Given the description of an element on the screen output the (x, y) to click on. 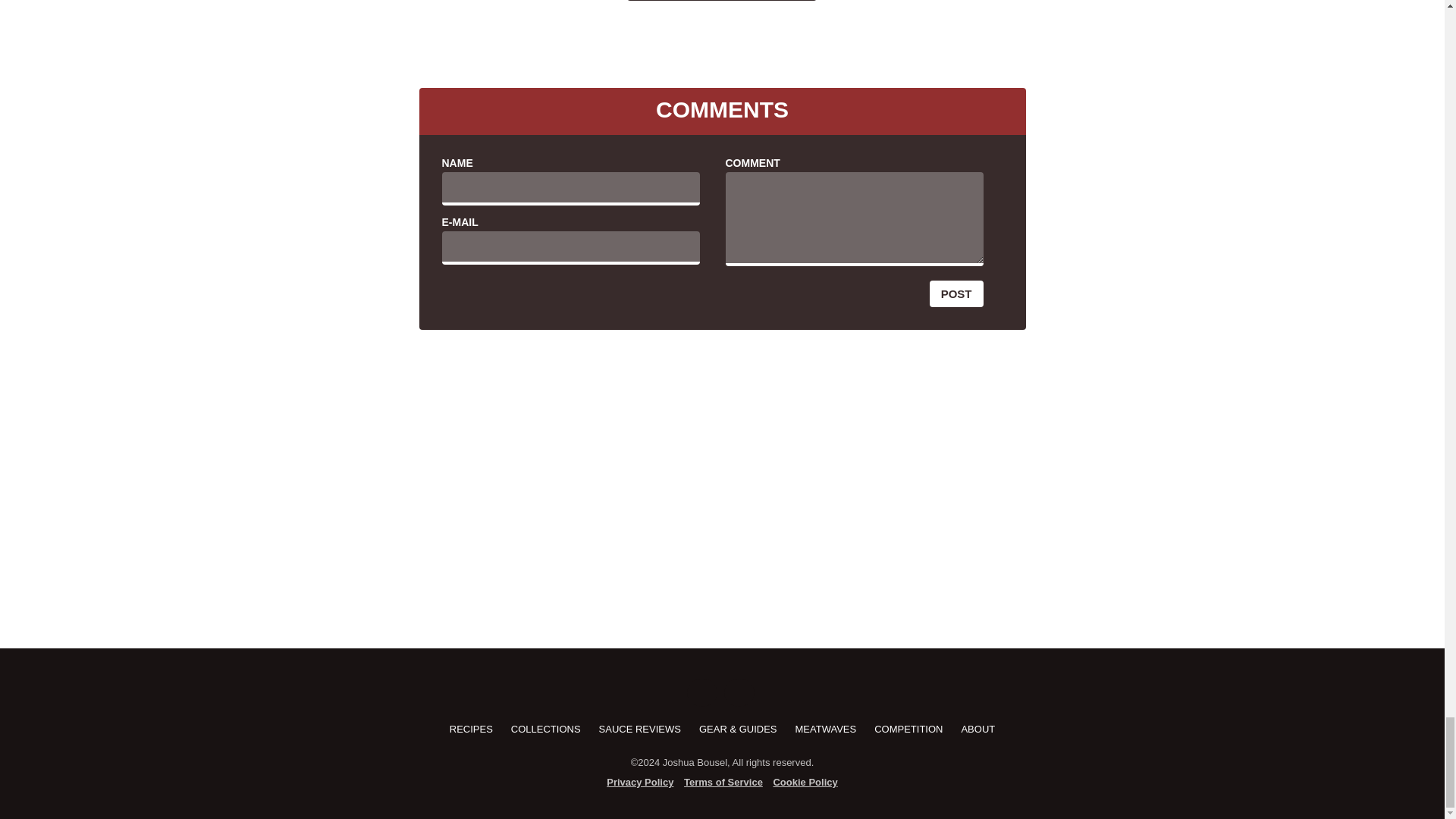
MEATWAVES (825, 728)
POST (957, 293)
COMPETITION (908, 728)
RECIPES (471, 728)
COLLECTIONS (545, 728)
SAUCE REVIEWS (639, 728)
ABOUT (977, 728)
